Given the description of an element on the screen output the (x, y) to click on. 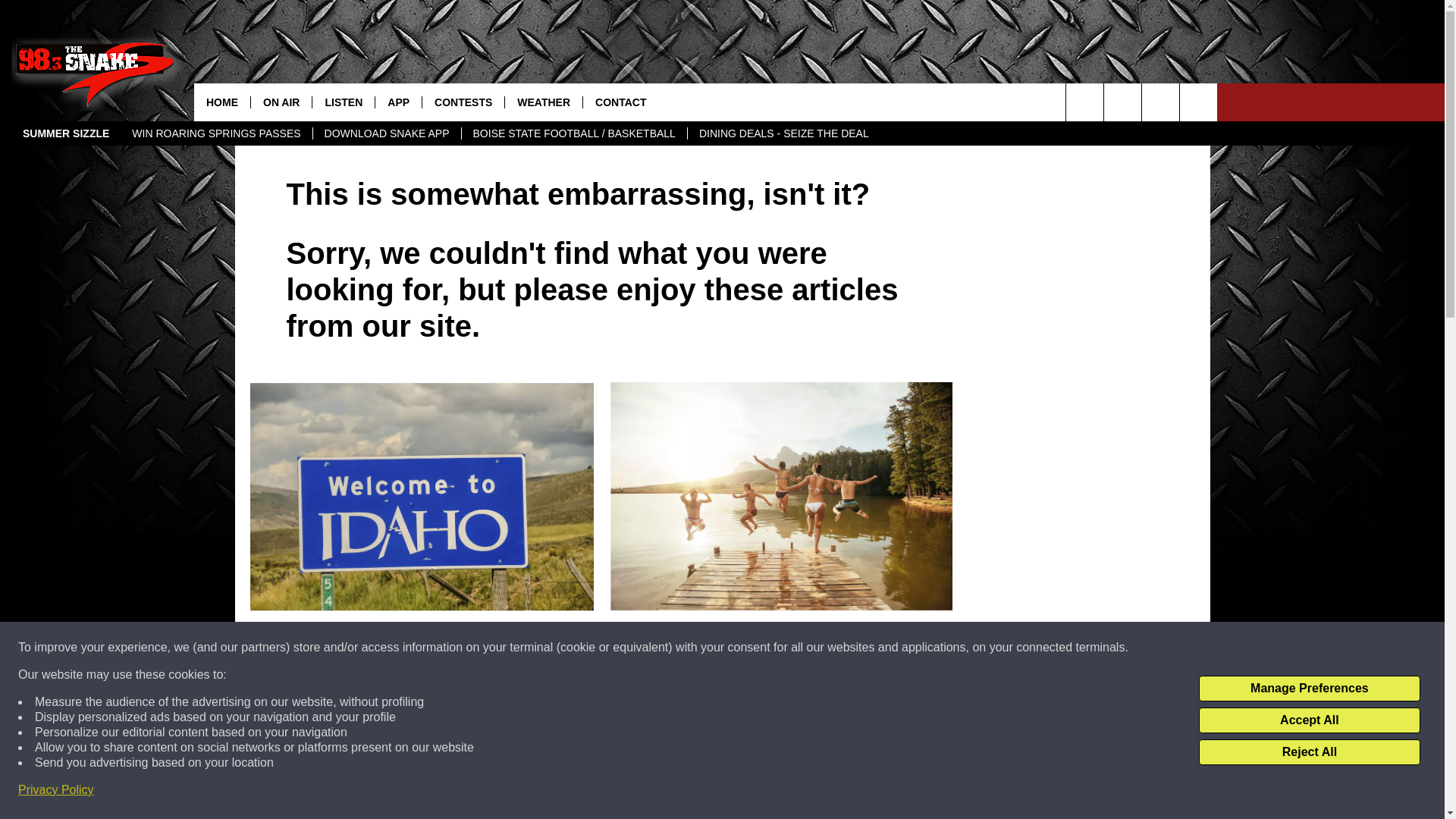
Manage Preferences (1309, 688)
ON AIR (280, 102)
DINING DEALS - SEIZE THE DEAL (783, 133)
WEATHER (542, 102)
SUMMER SIZZLE (65, 133)
LISTEN (342, 102)
HOME (221, 102)
APP (398, 102)
Accept All (1309, 720)
Privacy Policy (55, 789)
CONTESTS (462, 102)
Reject All (1309, 751)
WIN ROARING SPRINGS PASSES (215, 133)
DOWNLOAD SNAKE APP (387, 133)
